Given the description of an element on the screen output the (x, y) to click on. 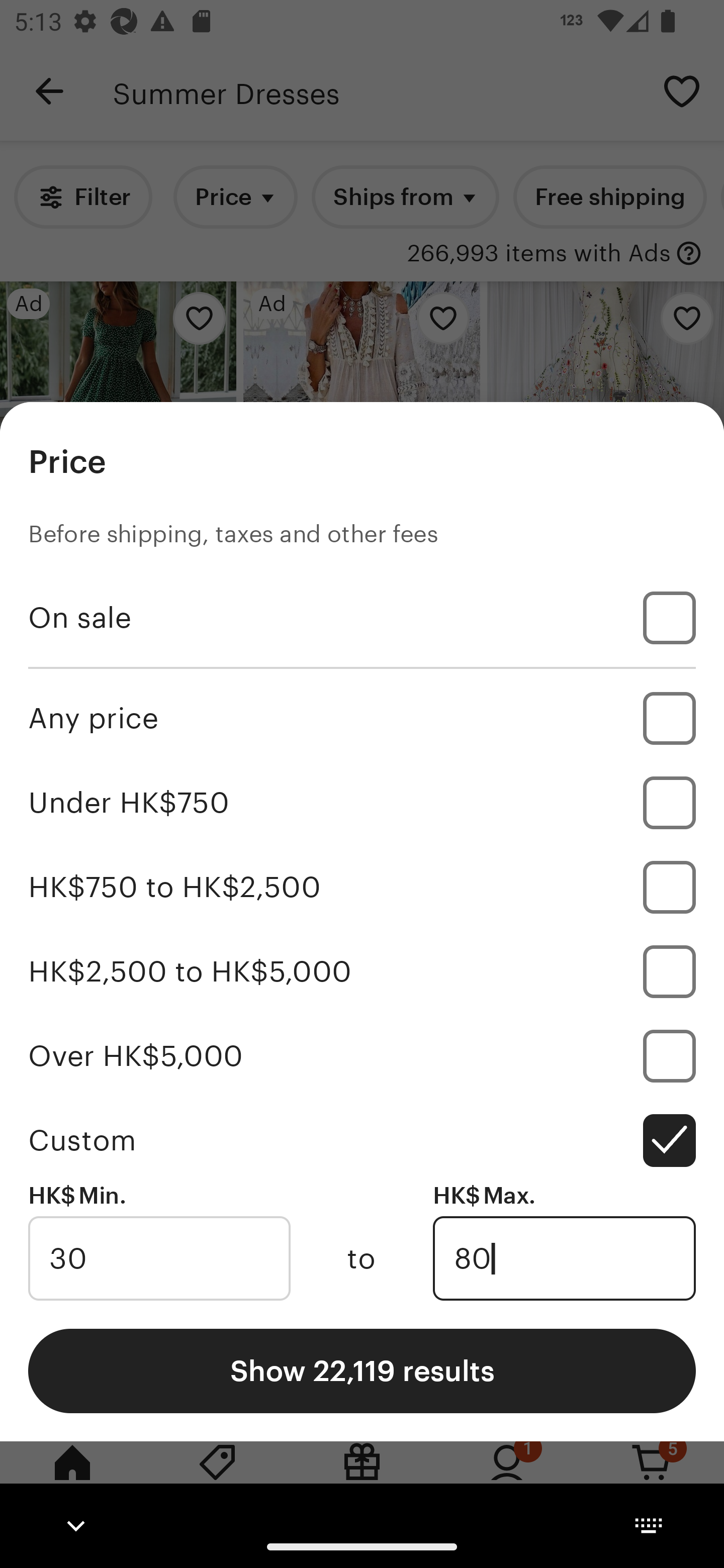
On sale (362, 617)
Any price (362, 717)
Under HK$750 (362, 802)
HK$750 to HK$2,500 (362, 887)
HK$2,500 to HK$5,000 (362, 970)
Over HK$5,000 (362, 1054)
Custom (362, 1139)
30 (159, 1257)
80 (563, 1257)
Show 22,119 results (361, 1370)
